Given the description of an element on the screen output the (x, y) to click on. 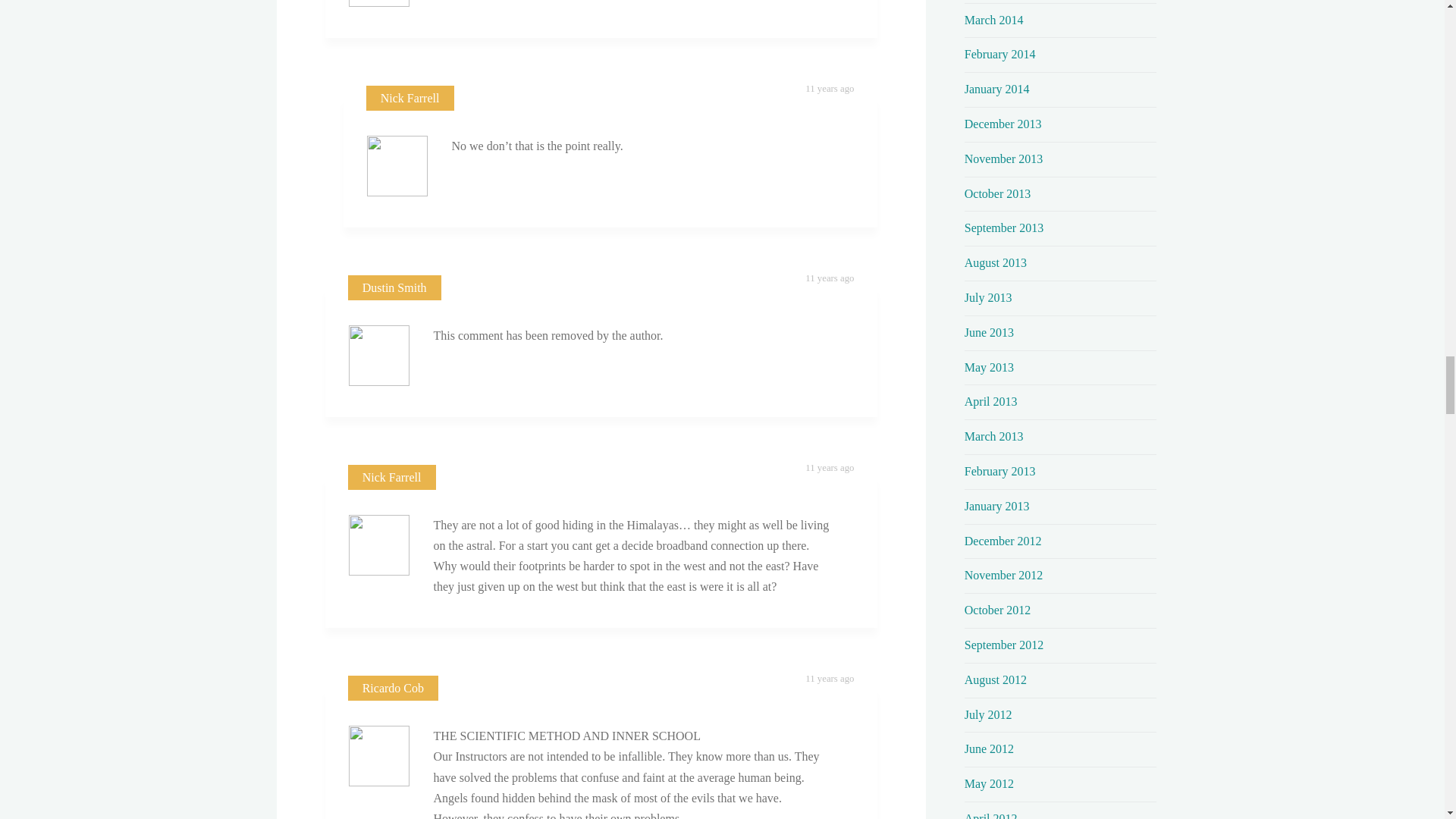
11 years ago (829, 88)
